Given the description of an element on the screen output the (x, y) to click on. 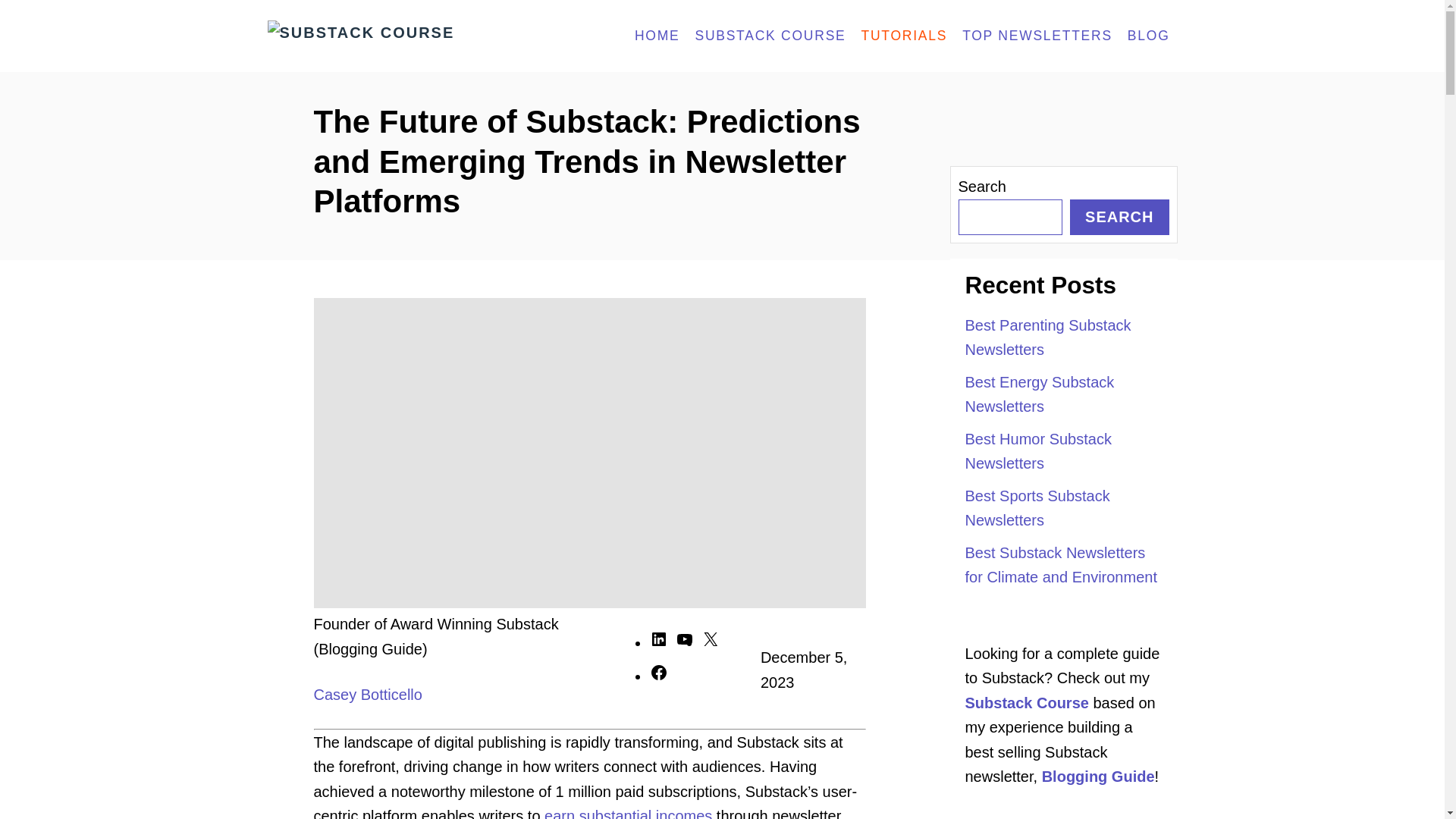
TOP NEWSLETTERS (1037, 36)
TUTORIALS (904, 36)
SUBSTACK COURSE (770, 36)
Facebook (658, 676)
BLOG (1148, 36)
LinkedIn (658, 642)
X (710, 642)
earn substantial incomes (627, 813)
Substack Course (401, 36)
HOME (657, 36)
